Given the description of an element on the screen output the (x, y) to click on. 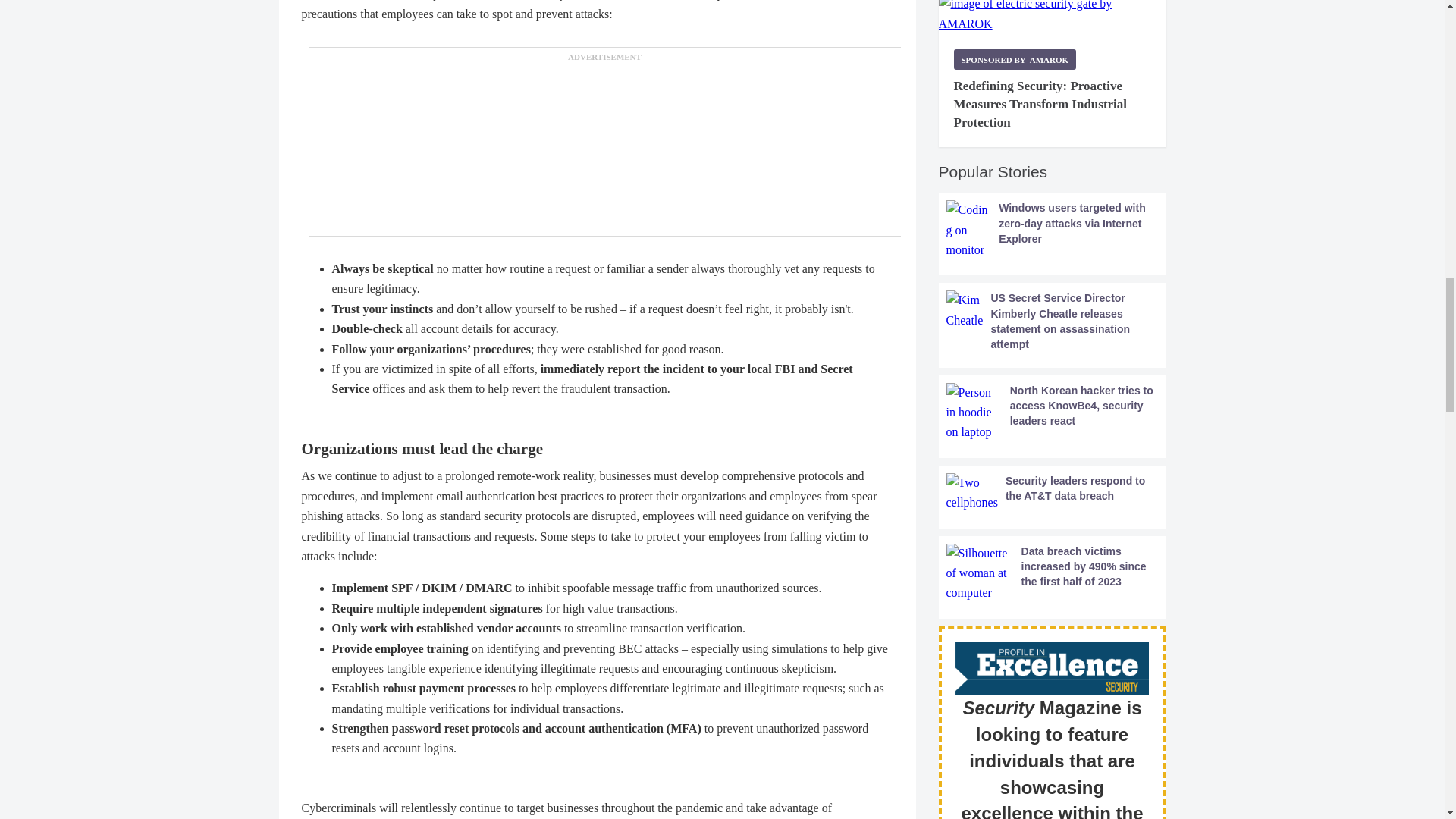
AMAROK Security Gate (1052, 17)
Sponsored by AMAROK (1015, 59)
